Given the description of an element on the screen output the (x, y) to click on. 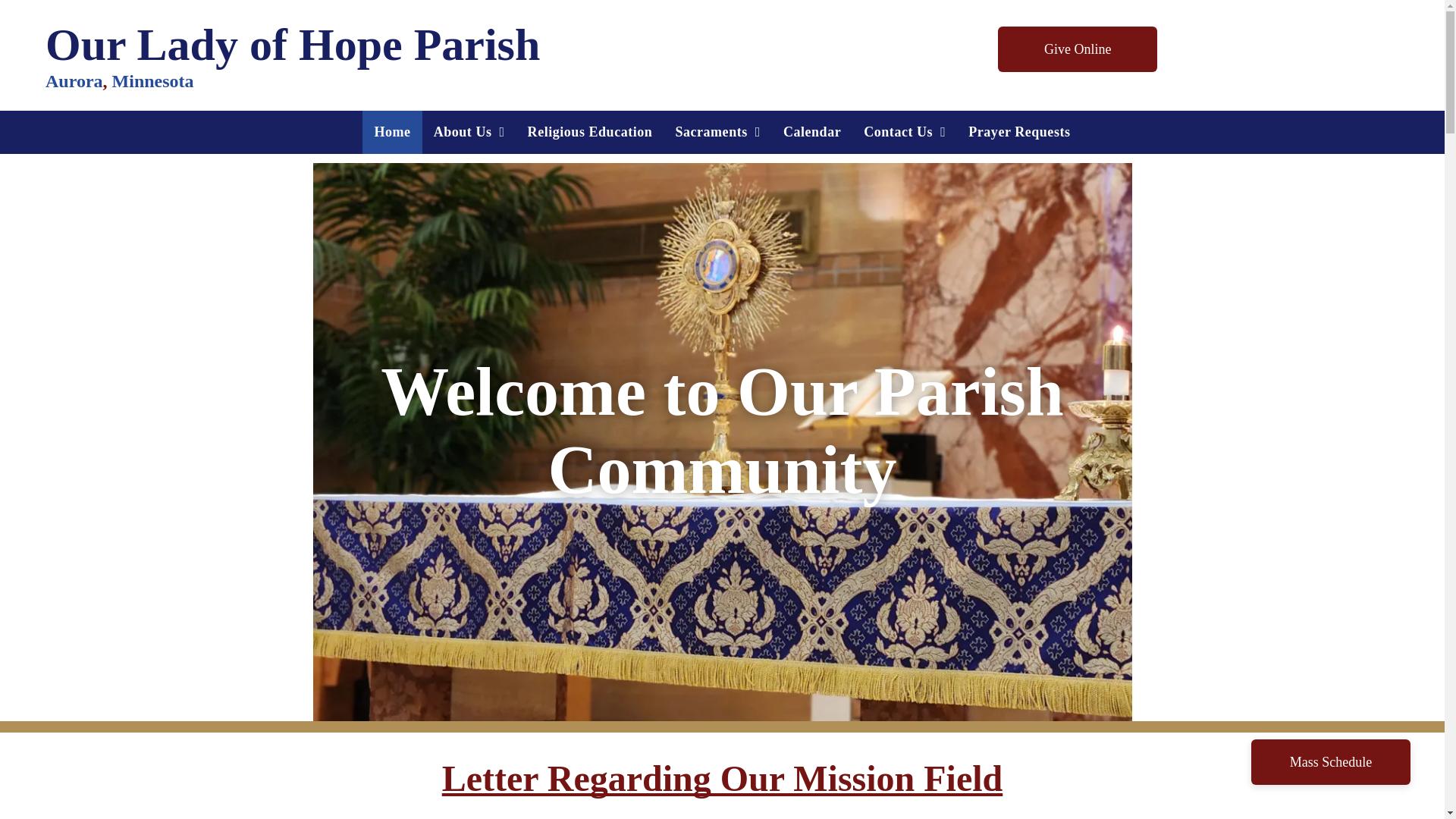
Minnesota (152, 80)
Our Lady of Hope Parish (292, 44)
Contact Us (903, 131)
About Us (469, 131)
Sacraments (717, 131)
Religious Education (589, 131)
Home (392, 131)
Give Online (1077, 49)
Prayer Requests (1018, 131)
Calendar (811, 131)
Letter Regarding Our Mission Field (722, 778)
